Given the description of an element on the screen output the (x, y) to click on. 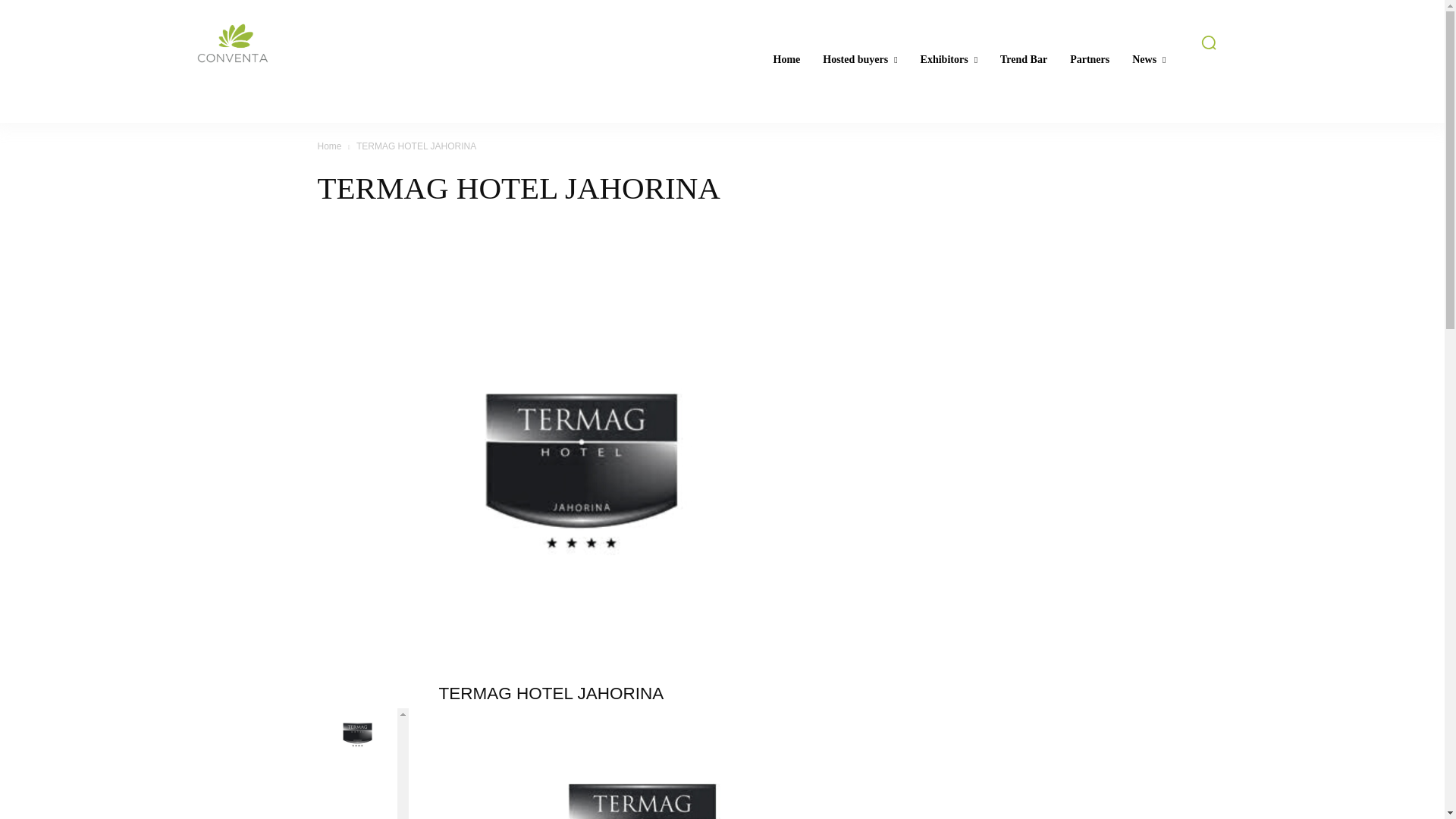
Exhibitors (948, 59)
Hosted buyers (859, 59)
Home (786, 59)
